Given the description of an element on the screen output the (x, y) to click on. 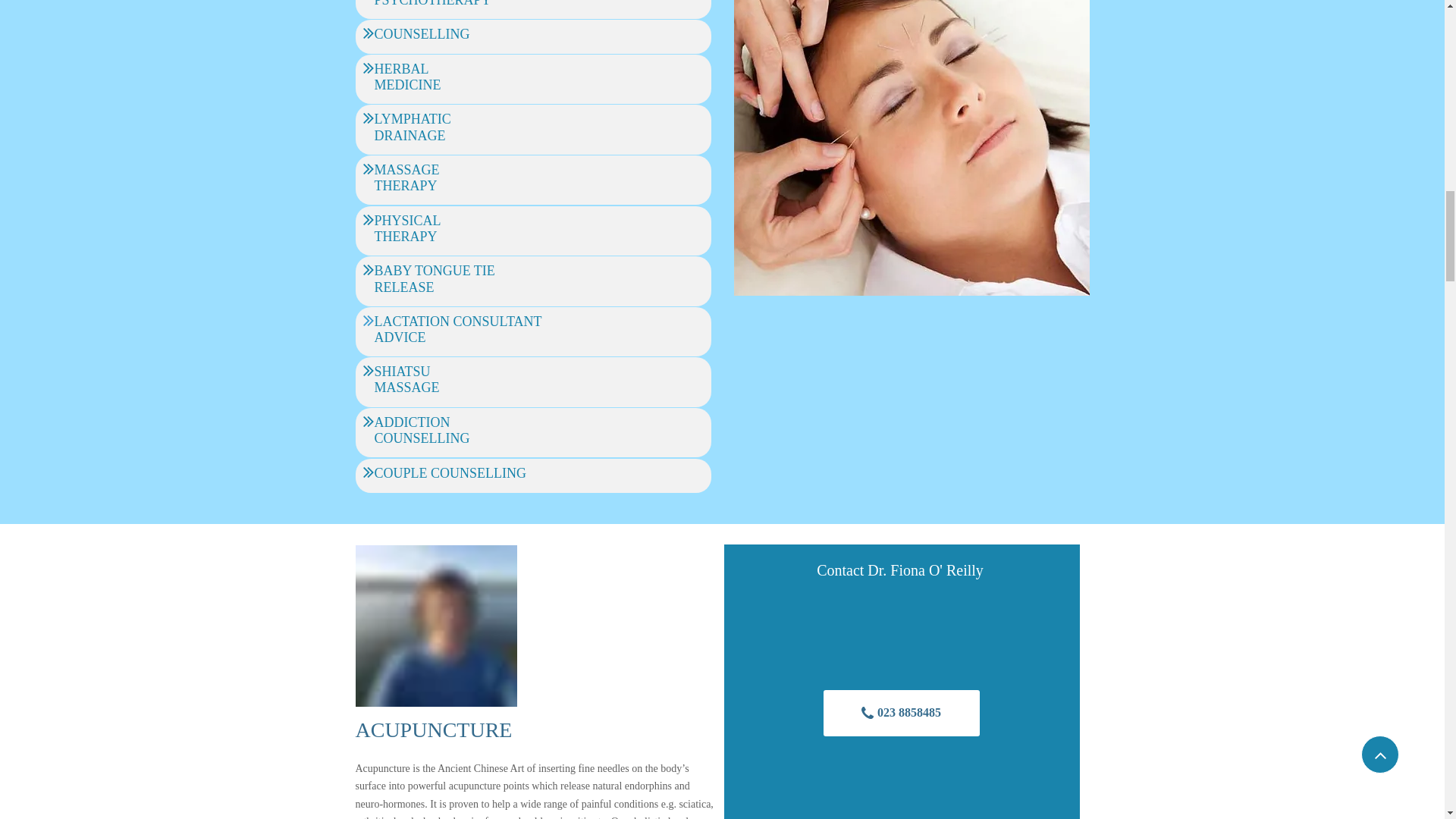
COUNSELLING (422, 35)
023 8858485 (901, 713)
HERBAL MEDICINE (407, 78)
LYMPHATIC DRAINAGE (412, 128)
MASSAGE THERAPY (406, 179)
LACTATION CONSULTANT ADVICE (457, 331)
BABY TONGUE TIE RELEASE (434, 280)
SHIATSU MASSAGE (406, 381)
ADDICTION COUNSELLING (422, 432)
COUPLE COUNSELLING (450, 474)
PHYSICAL THERAPY (407, 230)
ART PSYCHOTHERAPY (433, 2)
